Given the description of an element on the screen output the (x, y) to click on. 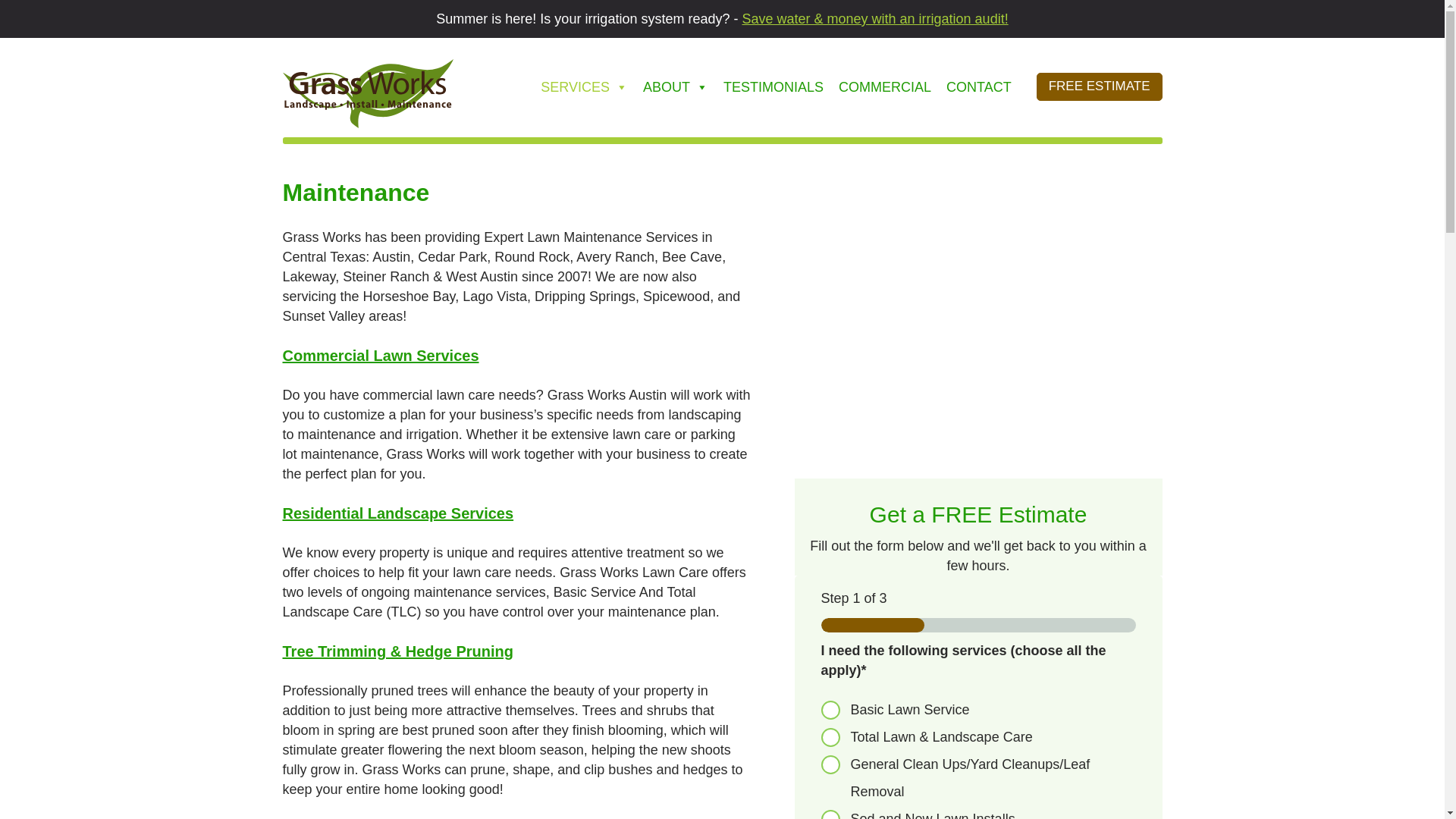
SERVICES (583, 86)
TESTIMONIALS (773, 86)
ABOUT (675, 86)
Residential Landscape Services (397, 513)
Commercial Lawn Services (380, 355)
CONTACT (979, 86)
COMMERCIAL (885, 86)
FREE ESTIMATE (1098, 86)
